Given the description of an element on the screen output the (x, y) to click on. 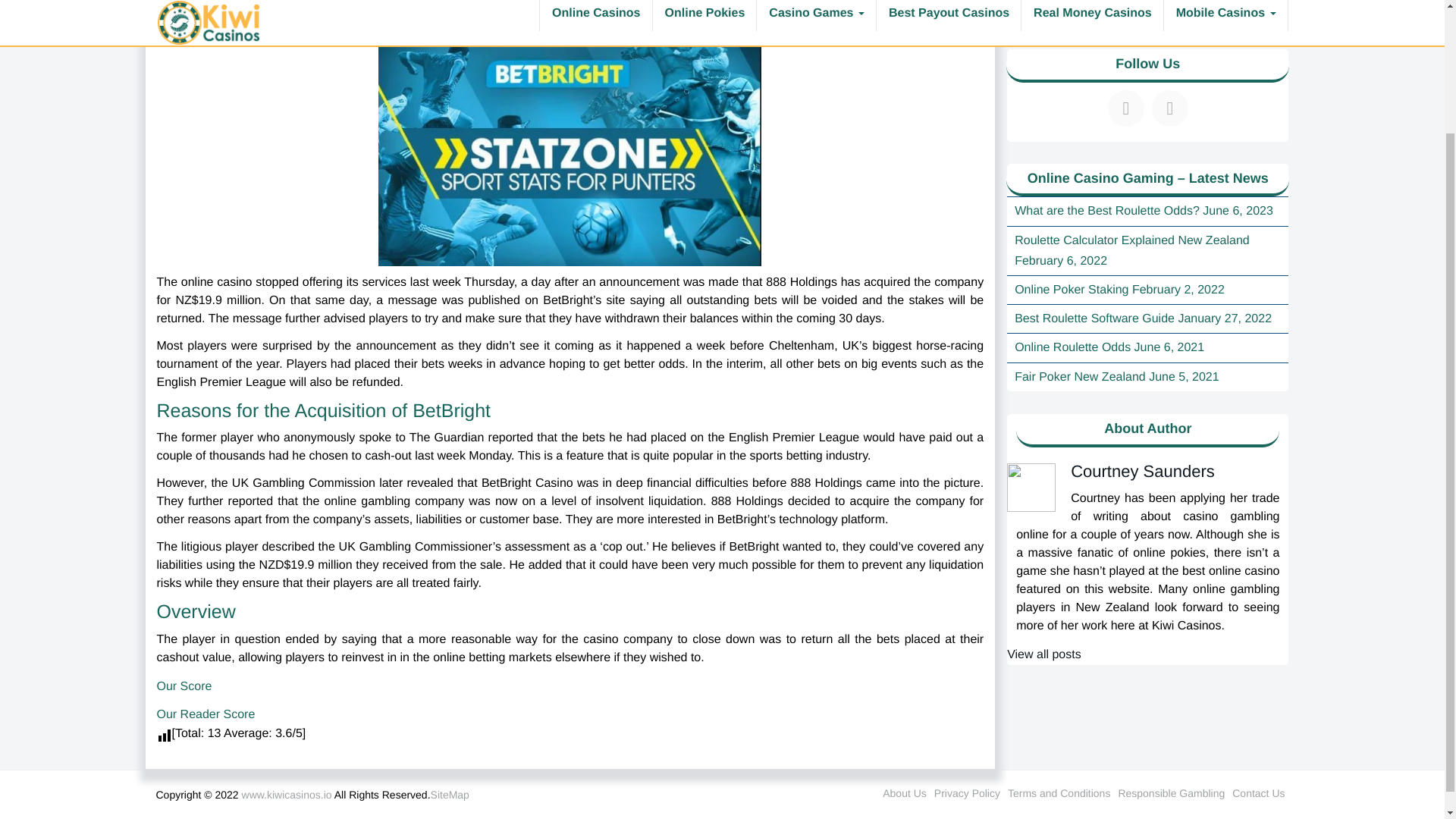
View all posts (1044, 654)
Contact Us (1257, 793)
Courtney Saunders (1142, 470)
Responsible Gambling (1171, 793)
What are the Best Roulette Odds? (1106, 210)
Terms and Conditions (1058, 793)
Privacy Policy (967, 793)
Online Roulette Odds (1072, 347)
SiteMap (449, 794)
About Us (904, 793)
Best Roulette Software Guide (1094, 318)
Online Poker Staking (1071, 289)
Fair Poker New Zealand (1079, 377)
Roulette Calculator Explained New Zealand (1131, 240)
www.kiwicasinos.io (286, 794)
